Given the description of an element on the screen output the (x, y) to click on. 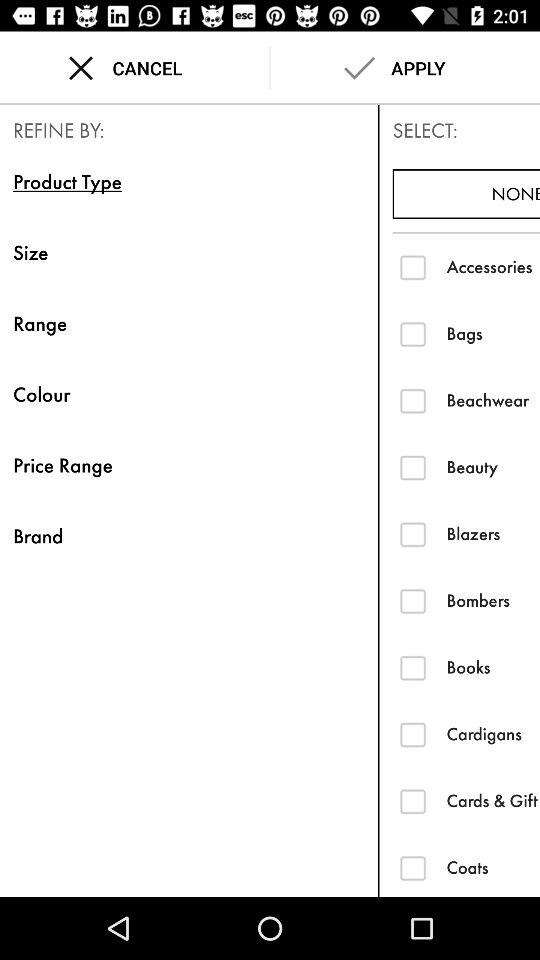
select bombers (412, 600)
